Given the description of an element on the screen output the (x, y) to click on. 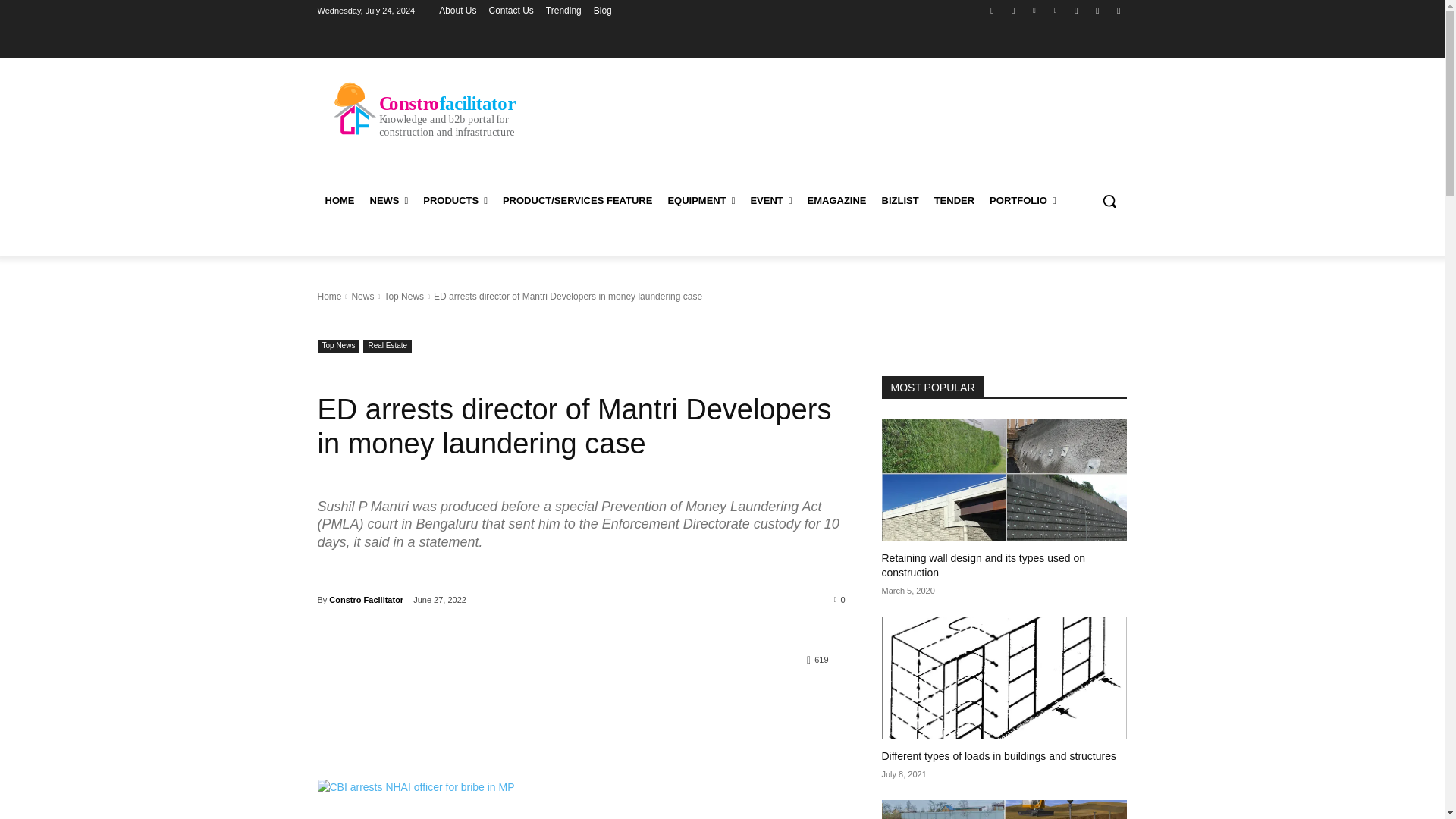
Facebook (992, 9)
Twitter (1097, 9)
Pinterest (1055, 9)
Linkedin (1034, 9)
Youtube (1117, 9)
Instagram (1013, 9)
RSS (1075, 9)
